Given the description of an element on the screen output the (x, y) to click on. 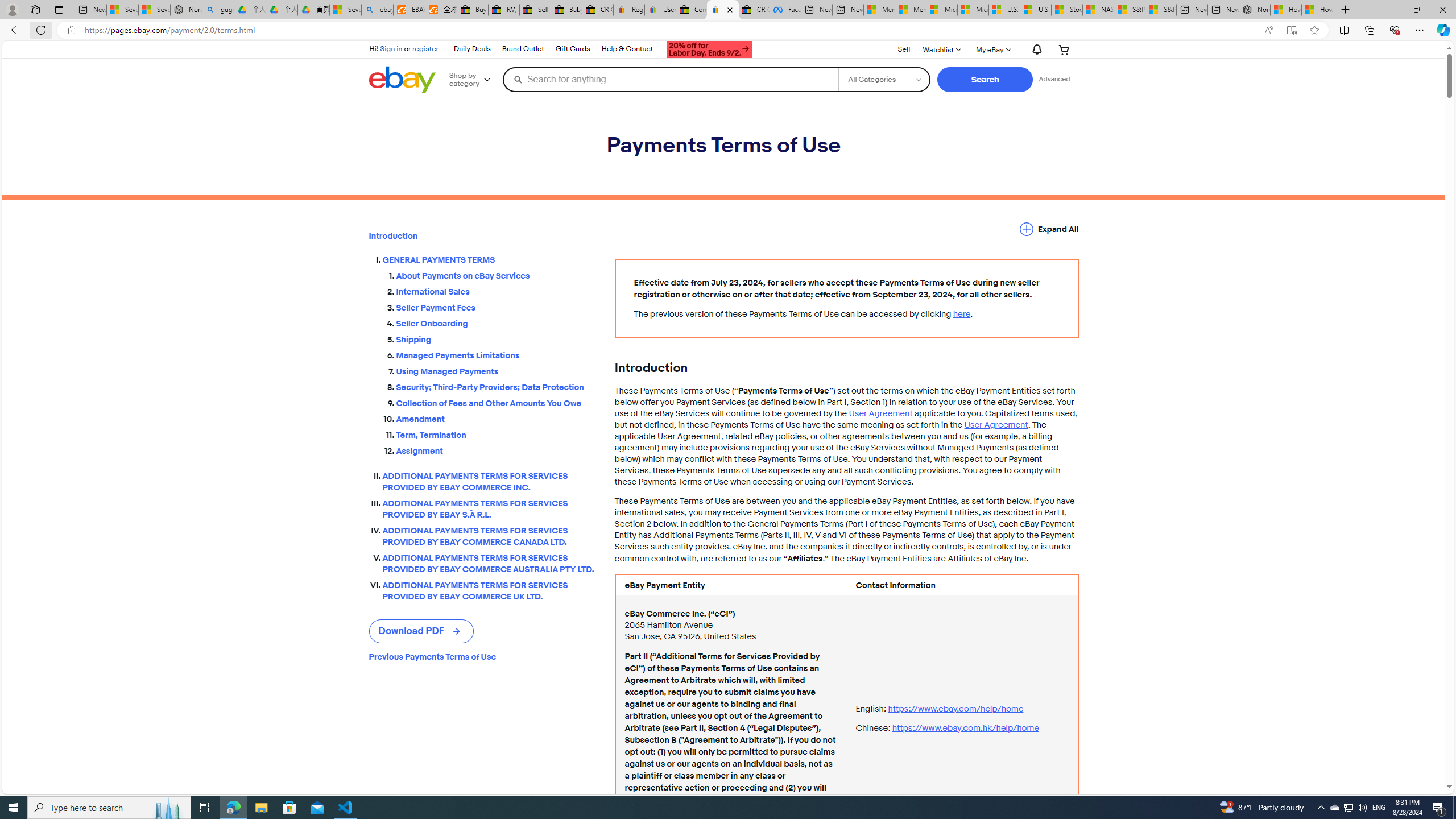
About Payments on eBay Services (496, 275)
Facebook (785, 9)
Expand Cart (1064, 49)
eBay Home (401, 79)
Shipping (496, 337)
AutomationID: gh-ti (707, 47)
S&P 500, Nasdaq end lower, weighed by Nvidia dip | Watch (1160, 9)
https://www.ebay.com/ help/home (955, 708)
